Given the description of an element on the screen output the (x, y) to click on. 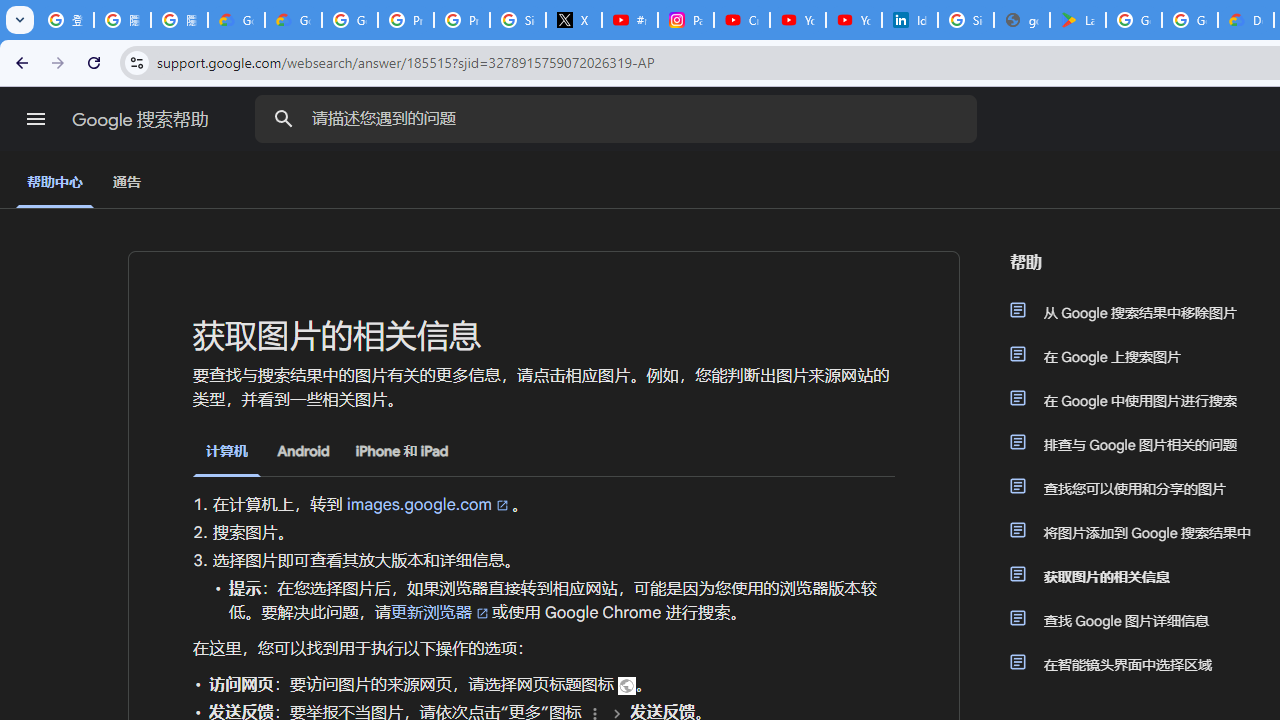
Sign in - Google Accounts (518, 20)
X (573, 20)
#nbabasketballhighlights - YouTube (629, 20)
